Given the description of an element on the screen output the (x, y) to click on. 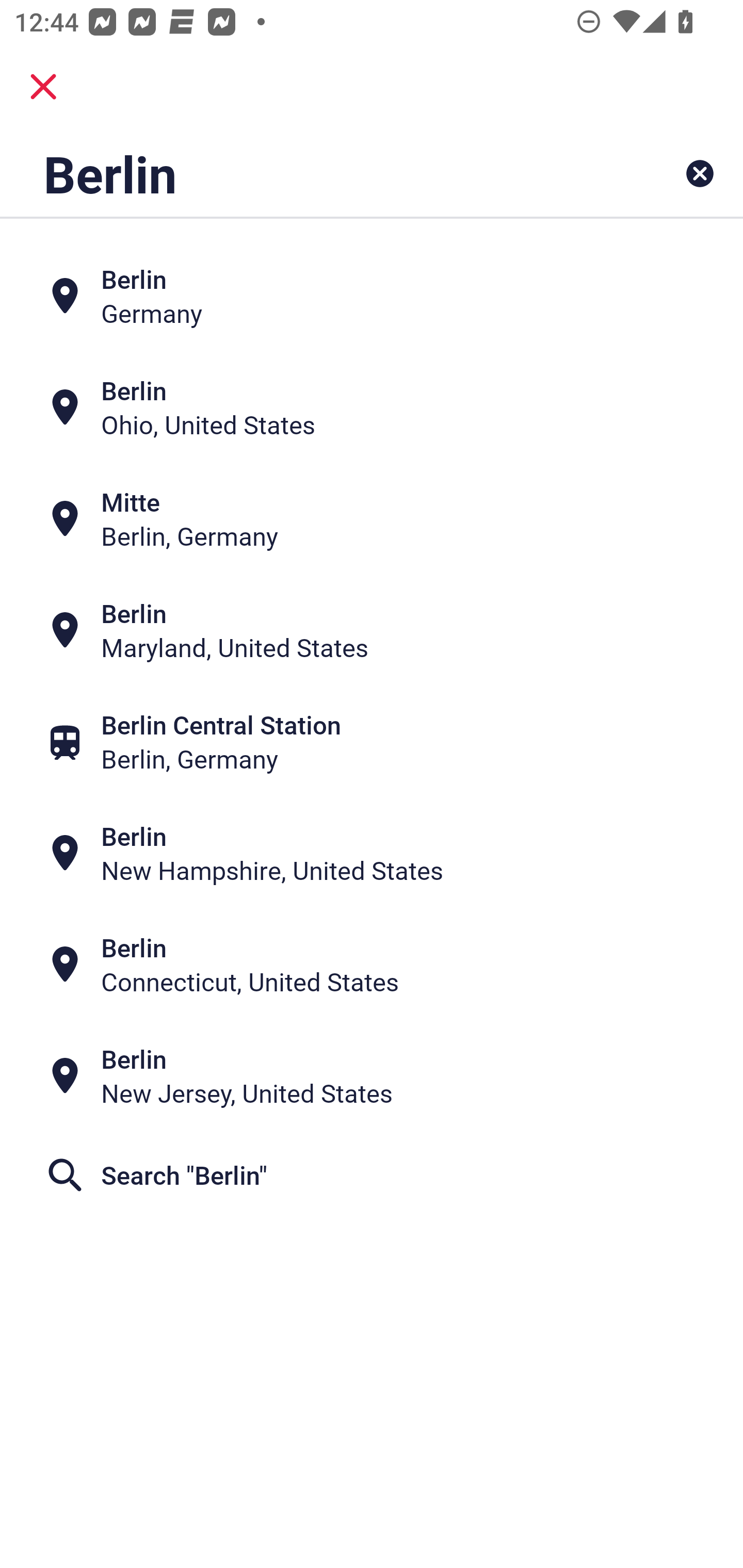
close. (43, 86)
Clear (699, 173)
Berlin (306, 173)
Berlin Germany (371, 295)
Berlin Ohio, United States (371, 406)
Mitte Berlin, Germany (371, 517)
Berlin Maryland, United States (371, 629)
Berlin Central Station Berlin, Germany (371, 742)
Berlin New Hampshire, United States (371, 853)
Berlin Connecticut, United States (371, 964)
Berlin New Jersey, United States (371, 1076)
Search "Berlin" (371, 1175)
